Given the description of an element on the screen output the (x, y) to click on. 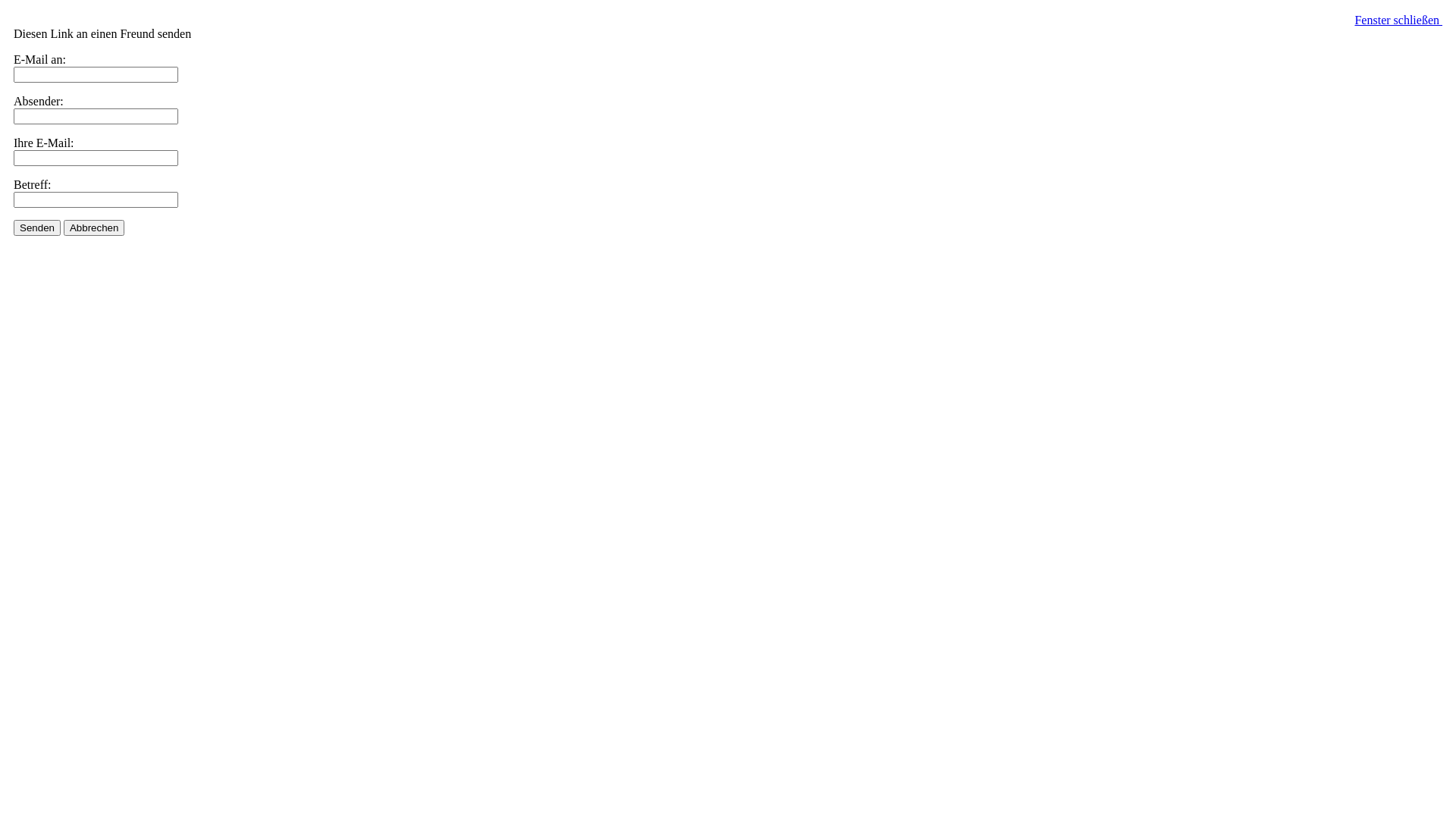
Senden Element type: text (36, 227)
Abbrechen Element type: text (93, 227)
